Given the description of an element on the screen output the (x, y) to click on. 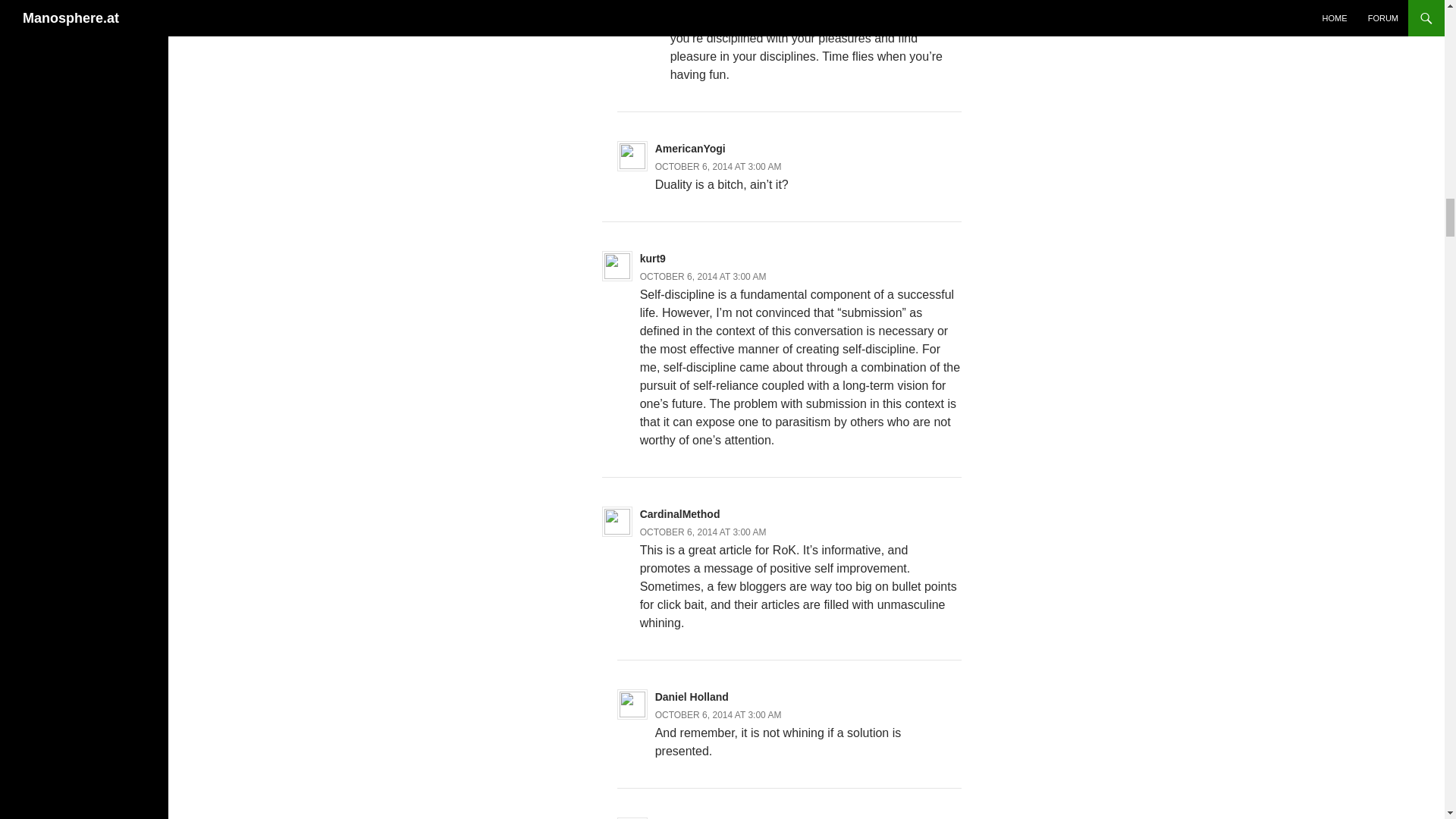
OCTOBER 6, 2014 AT 3:00 AM (703, 276)
OCTOBER 6, 2014 AT 3:00 AM (732, 3)
OCTOBER 6, 2014 AT 3:00 AM (703, 532)
OCTOBER 6, 2014 AT 3:00 AM (718, 166)
OCTOBER 6, 2014 AT 3:00 AM (718, 715)
